Given the description of an element on the screen output the (x, y) to click on. 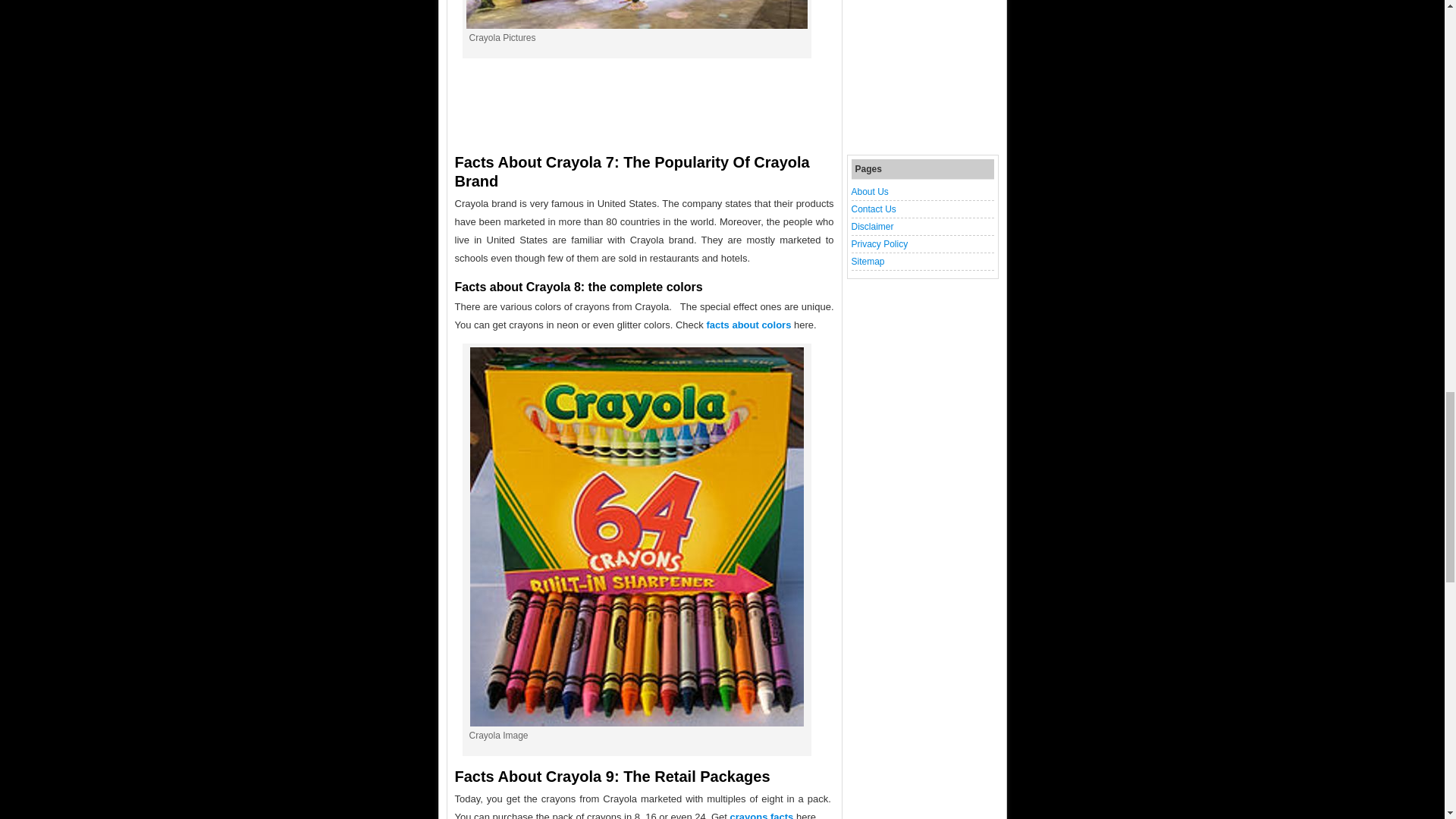
facts about colors (748, 324)
Advertisement (921, 75)
crayons facts (761, 815)
Advertisement (644, 103)
